Given the description of an element on the screen output the (x, y) to click on. 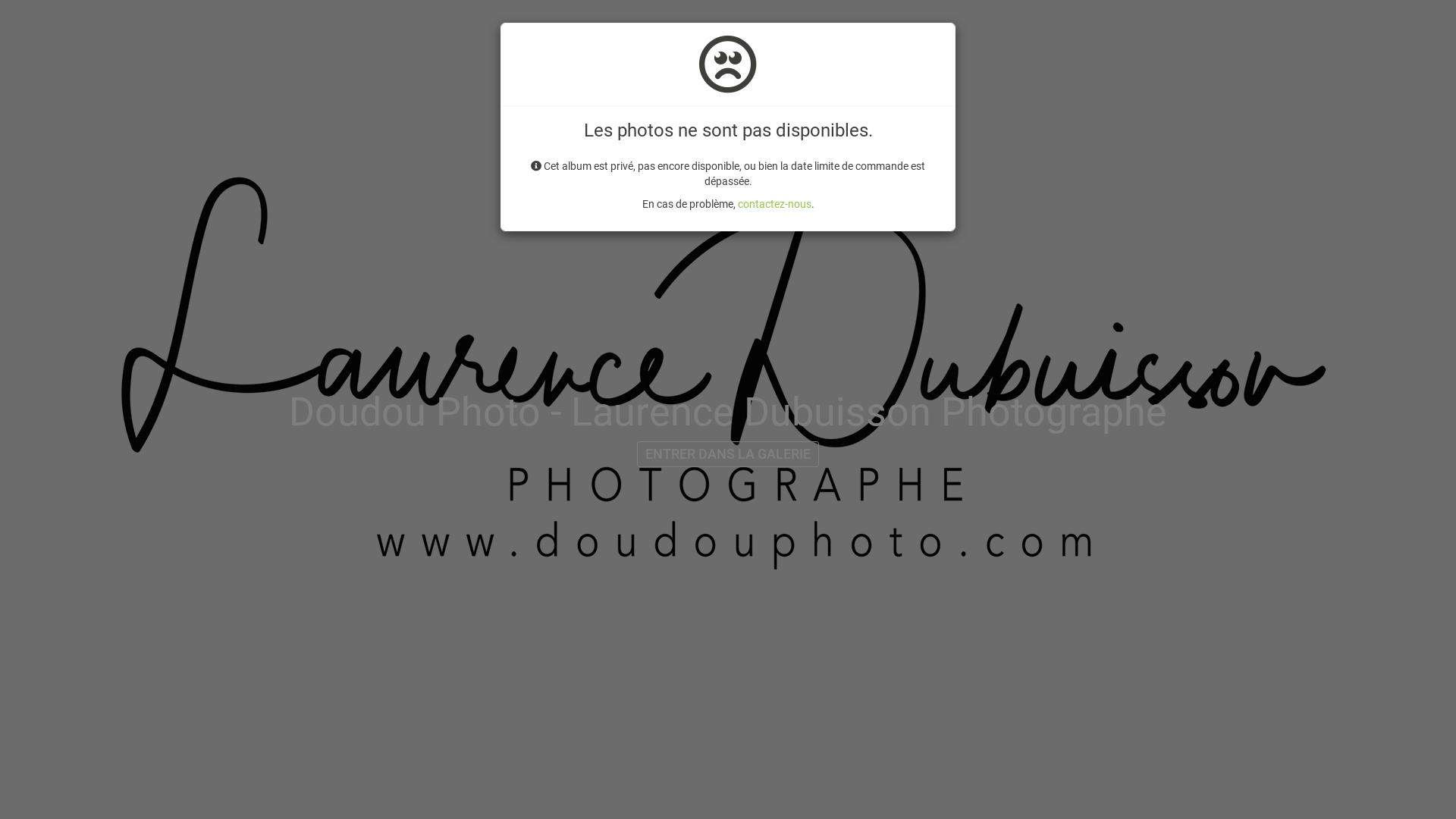
ENTRER DANS LA GALERIE Element type: text (728, 454)
contactez-nous Element type: text (773, 203)
